Given the description of an element on the screen output the (x, y) to click on. 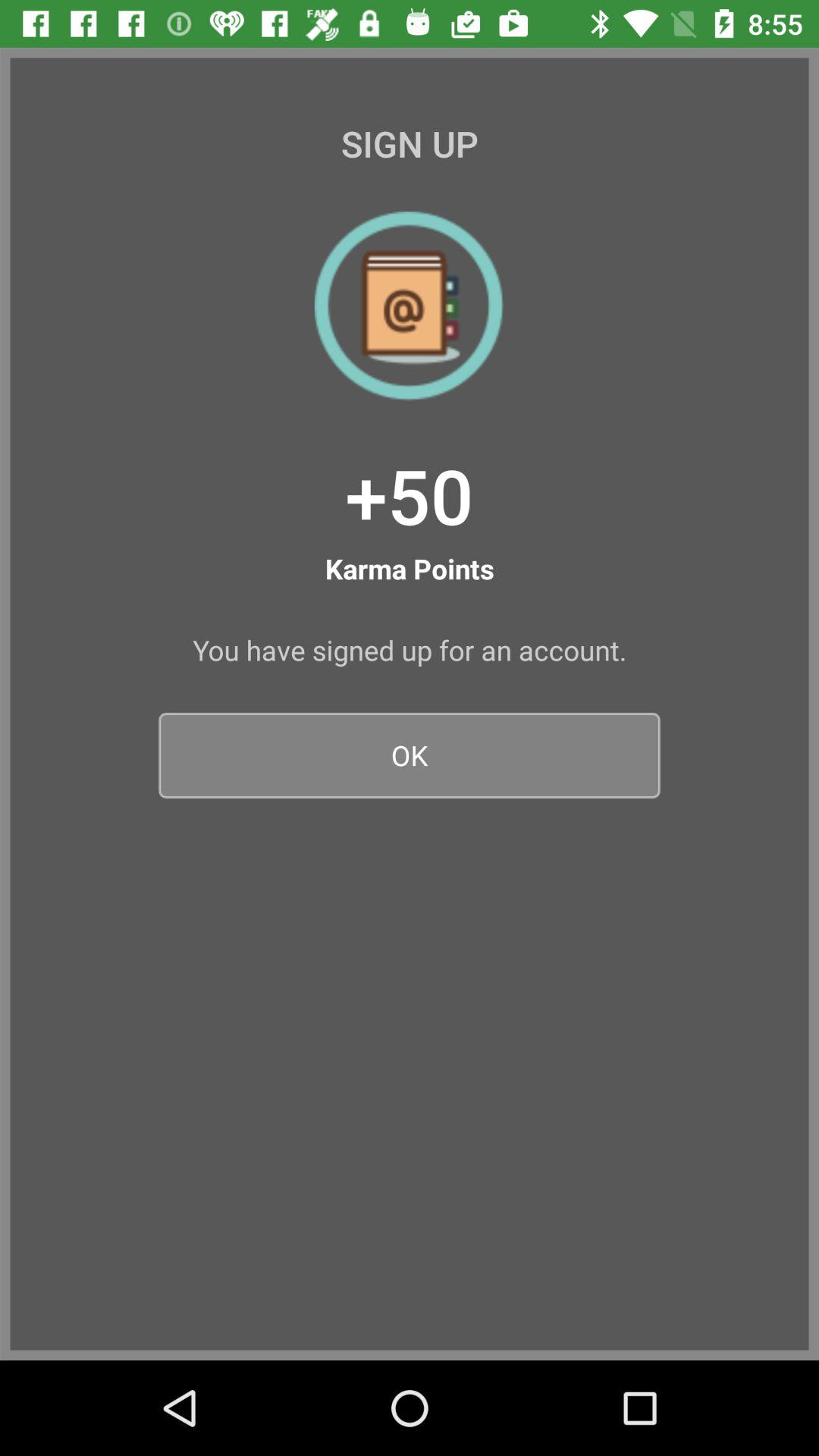
flip to the ok item (409, 755)
